Given the description of an element on the screen output the (x, y) to click on. 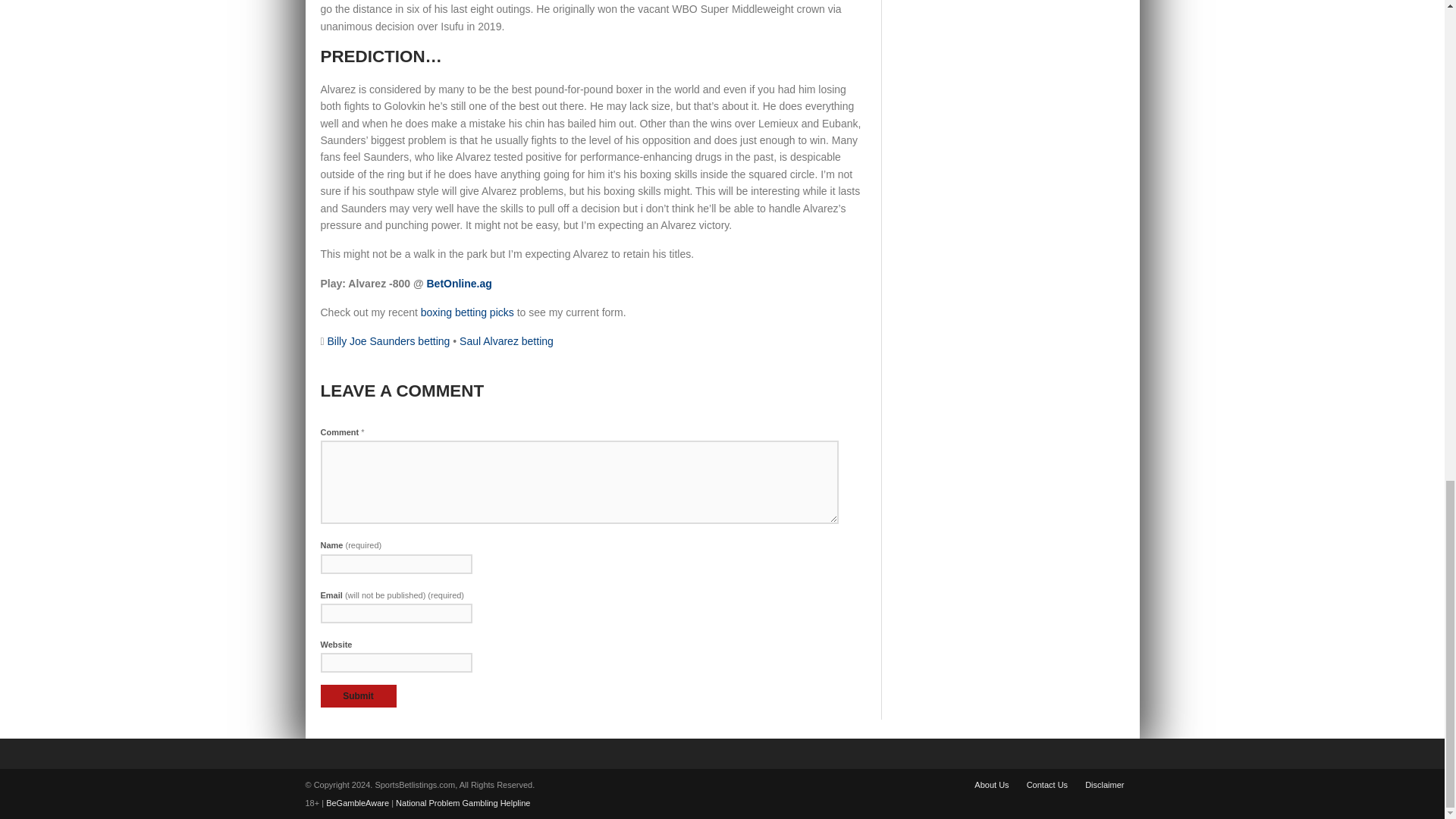
BetOnline.ag (459, 283)
boxing betting picks (466, 312)
Billy Joe Saunders betting (388, 340)
Saul Alvarez betting (506, 340)
Submit (358, 695)
Submit (358, 695)
